Given the description of an element on the screen output the (x, y) to click on. 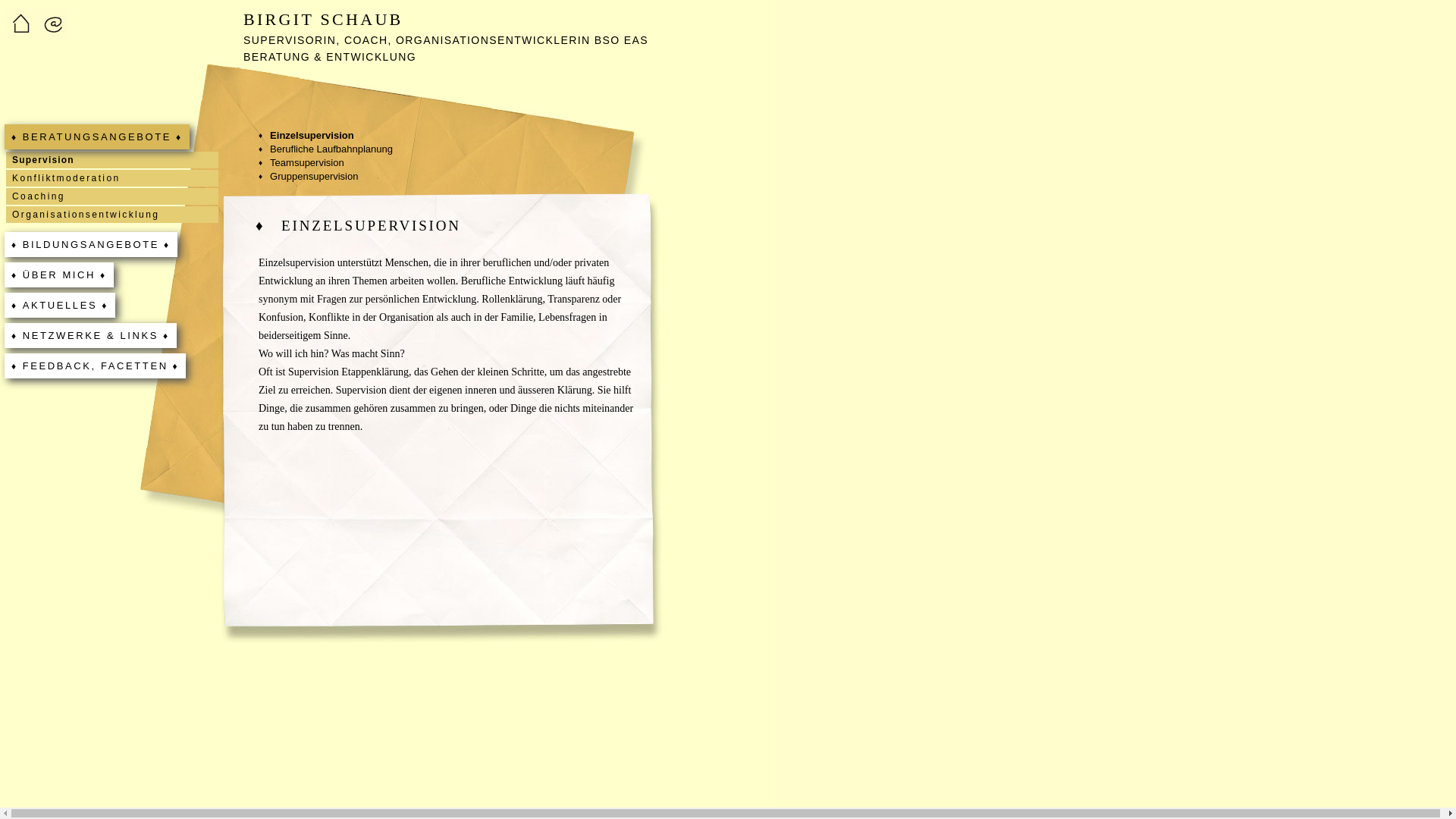
NETZWERKE & LINKS Element type: text (90, 335)
Teamsupervision Element type: text (301, 162)
Coaching Element type: text (112, 196)
Einzelsupervision Element type: text (306, 135)
BILDUNGSANGEBOTE Element type: text (90, 244)
AKTUELLES Element type: text (59, 304)
Konfliktmoderation Element type: text (112, 177)
FEEDBACK, FACETTEN Element type: text (94, 365)
Supervision Element type: text (112, 159)
Gruppensupervision Element type: text (307, 176)
Organisationsentwicklung Element type: text (112, 214)
Berufliche Laufbahnplanung Element type: text (325, 149)
BERATUNGSANGEBOTE Element type: text (96, 136)
